Given the description of an element on the screen output the (x, y) to click on. 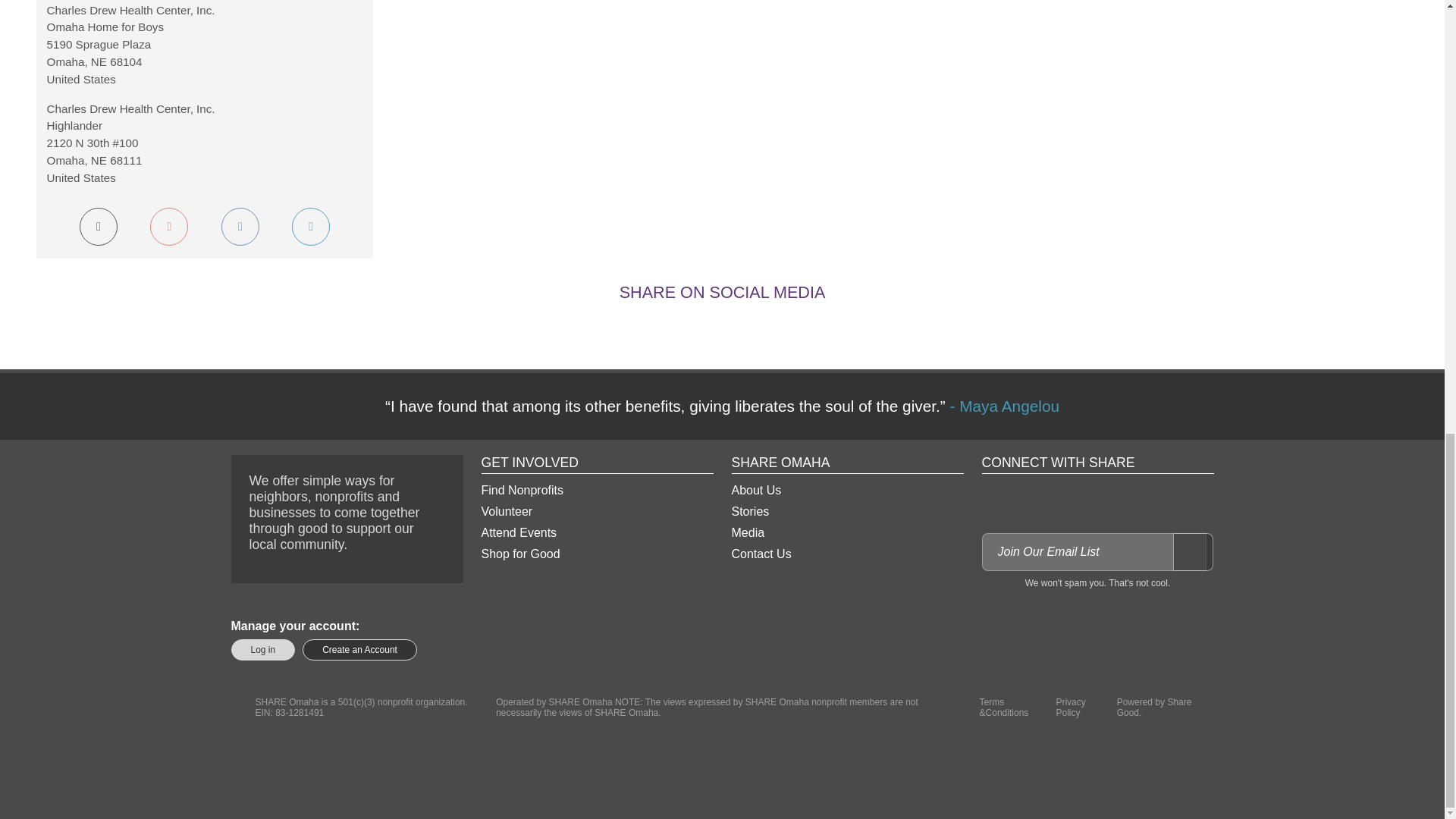
Join Our Email List (1192, 551)
Share to Facebook (667, 329)
Share to Linkedin (740, 329)
Share to Email (776, 329)
Share to X (703, 329)
